Given the description of an element on the screen output the (x, y) to click on. 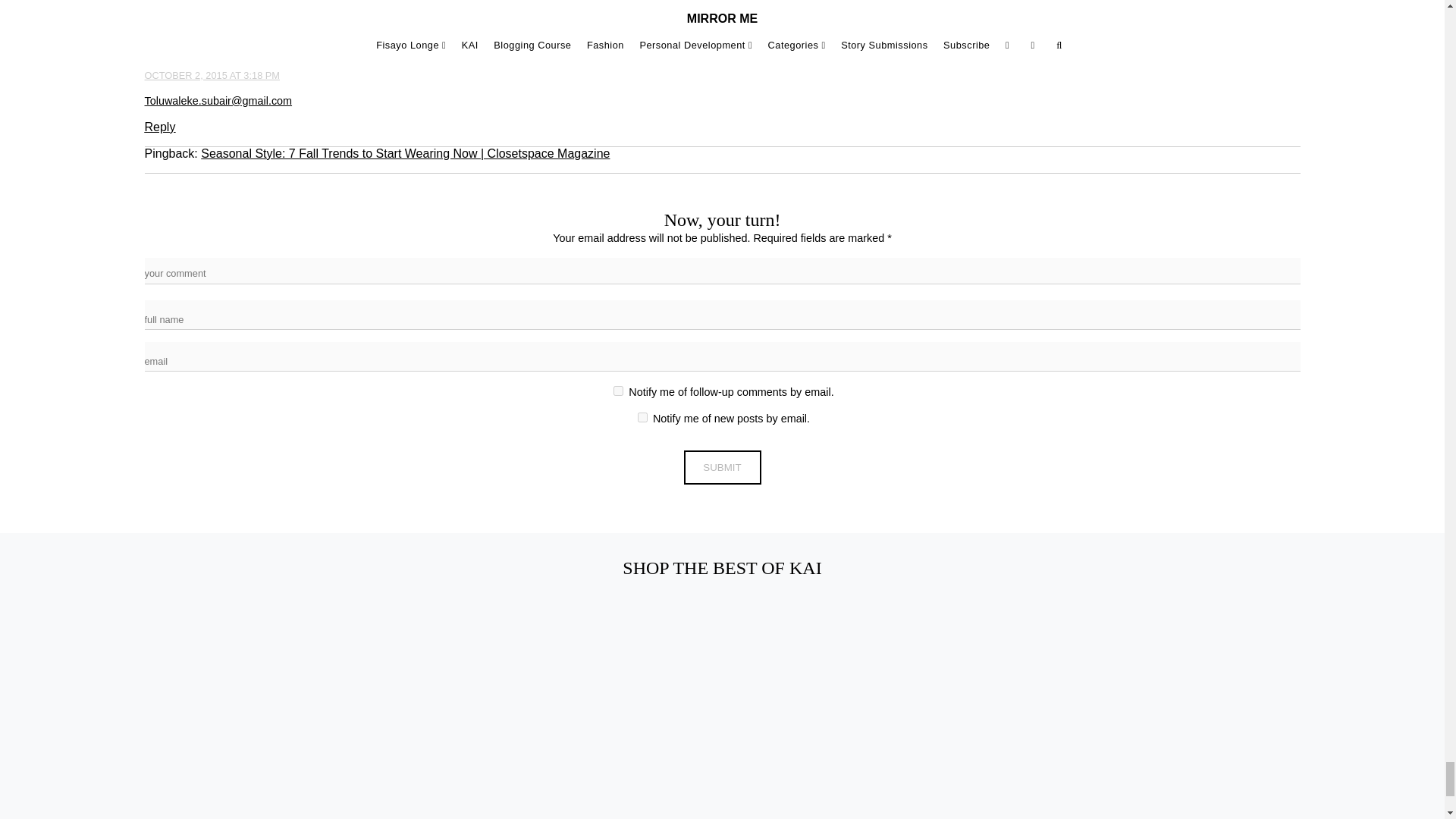
subscribe (617, 390)
submit (722, 467)
subscribe (642, 417)
